Given the description of an element on the screen output the (x, y) to click on. 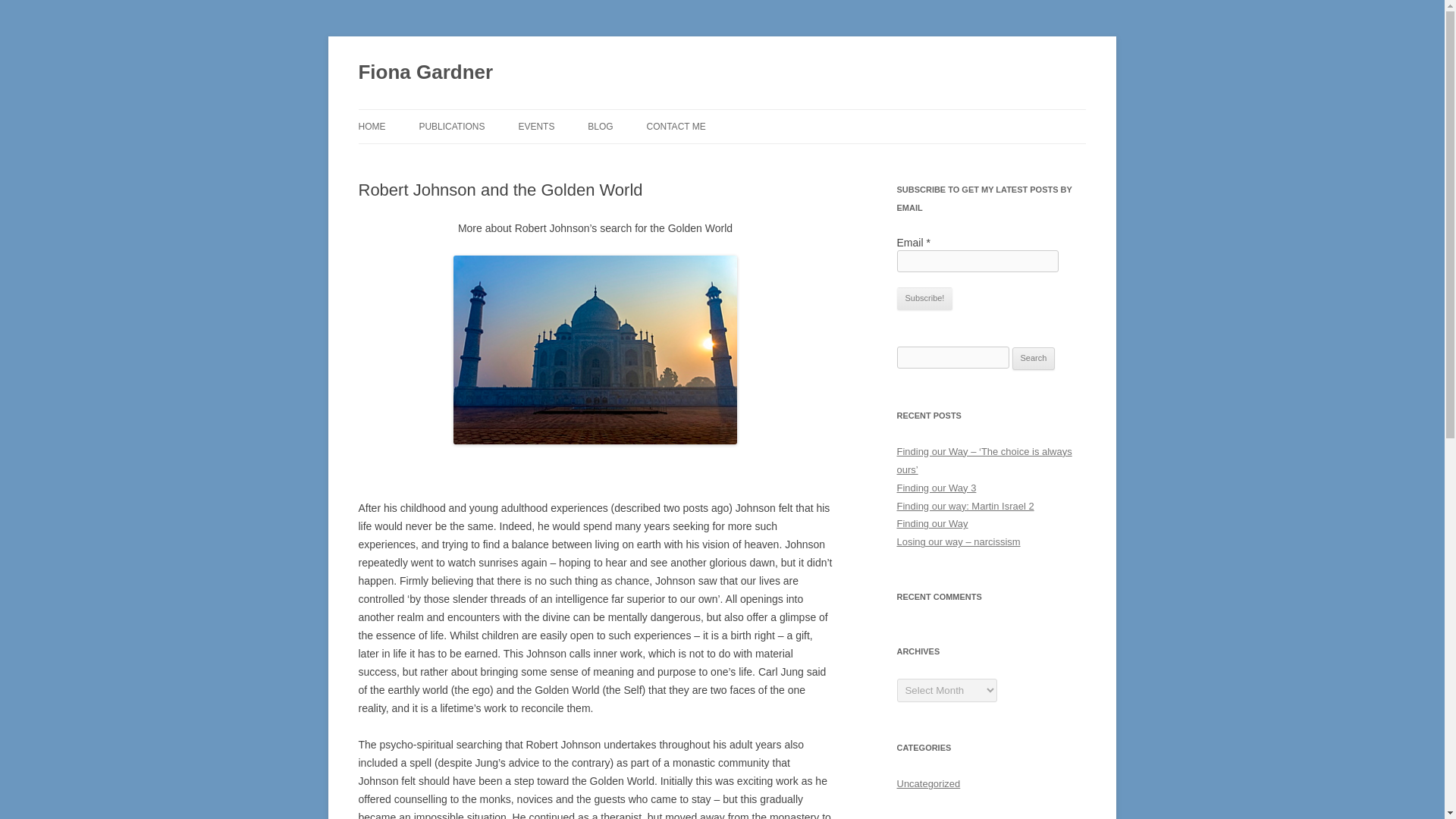
Finding our Way 3 (935, 487)
Subscribe! (924, 298)
CONTACT ME (676, 126)
Search (1033, 358)
Finding our Way (932, 523)
Fiona Gardner (425, 72)
PUBLICATIONS (451, 126)
EVENTS (536, 126)
Uncategorized (927, 783)
Email (977, 260)
Finding our way: Martin Israel 2 (964, 505)
Subscribe! (924, 298)
Search (1033, 358)
